Given the description of an element on the screen output the (x, y) to click on. 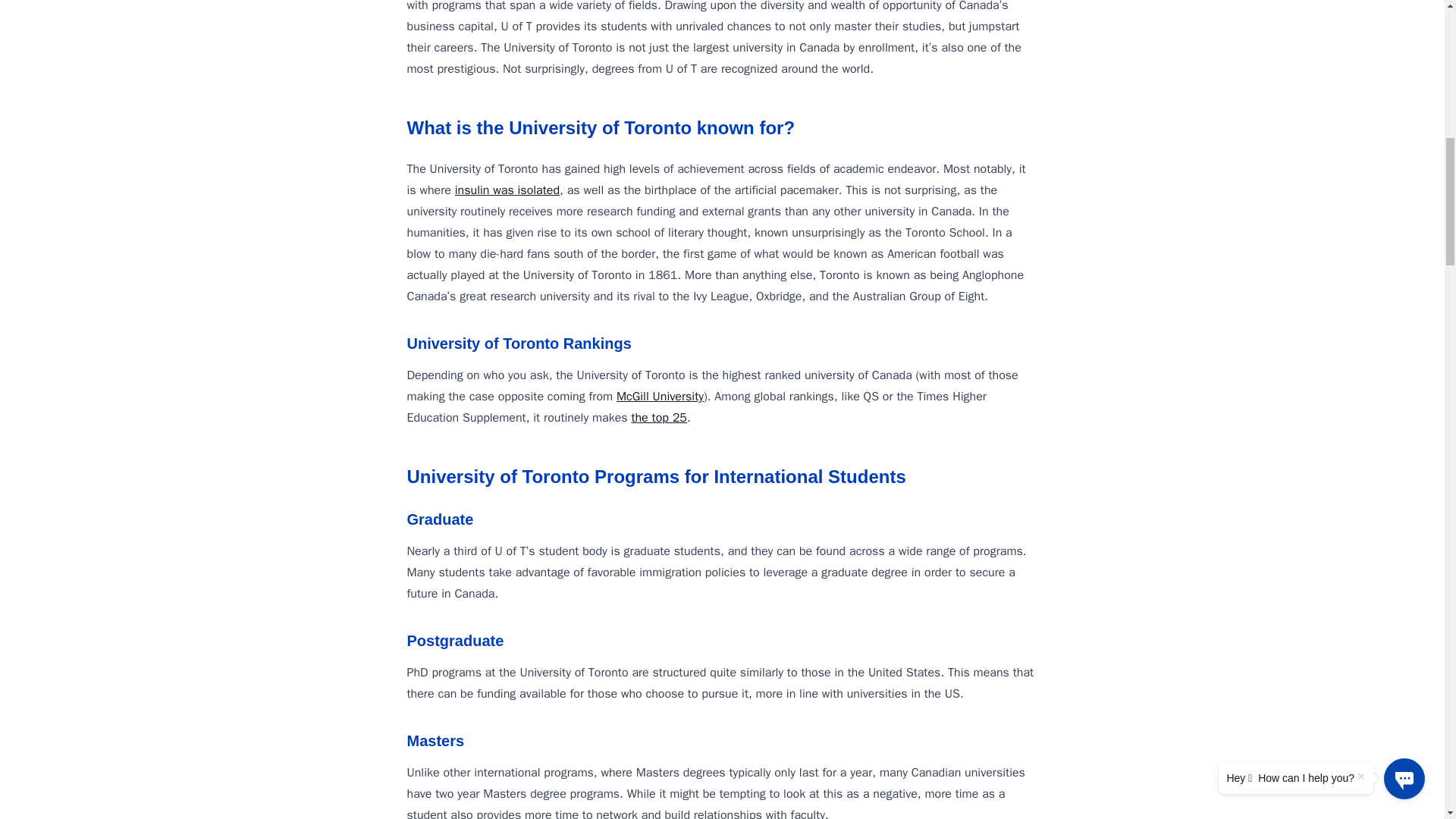
McGill University (659, 396)
the top 25 (658, 417)
insulin was isolated (506, 190)
